Given the description of an element on the screen output the (x, y) to click on. 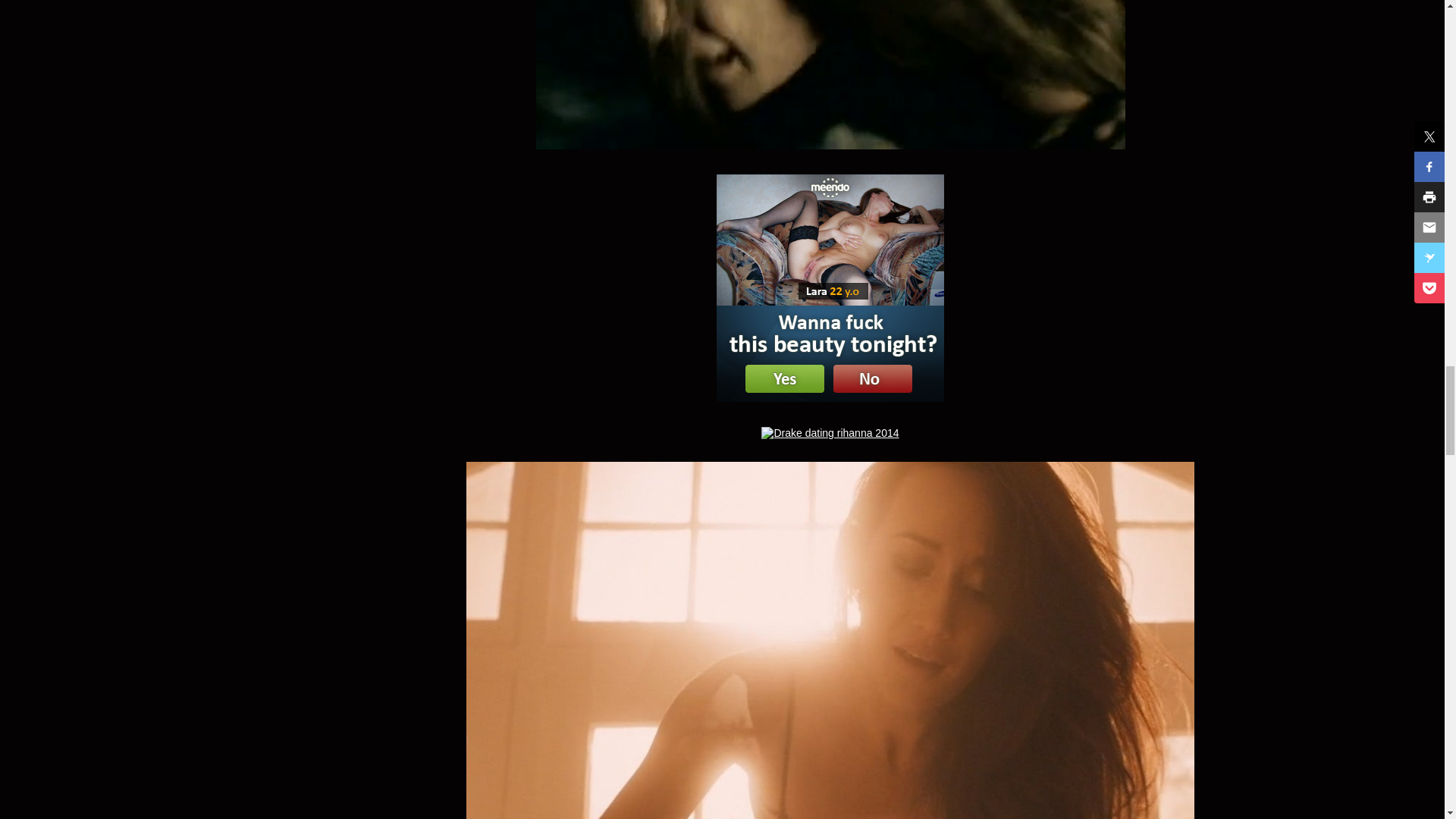
Pegging old man (829, 74)
Venus williams naked on beach (829, 432)
